Given the description of an element on the screen output the (x, y) to click on. 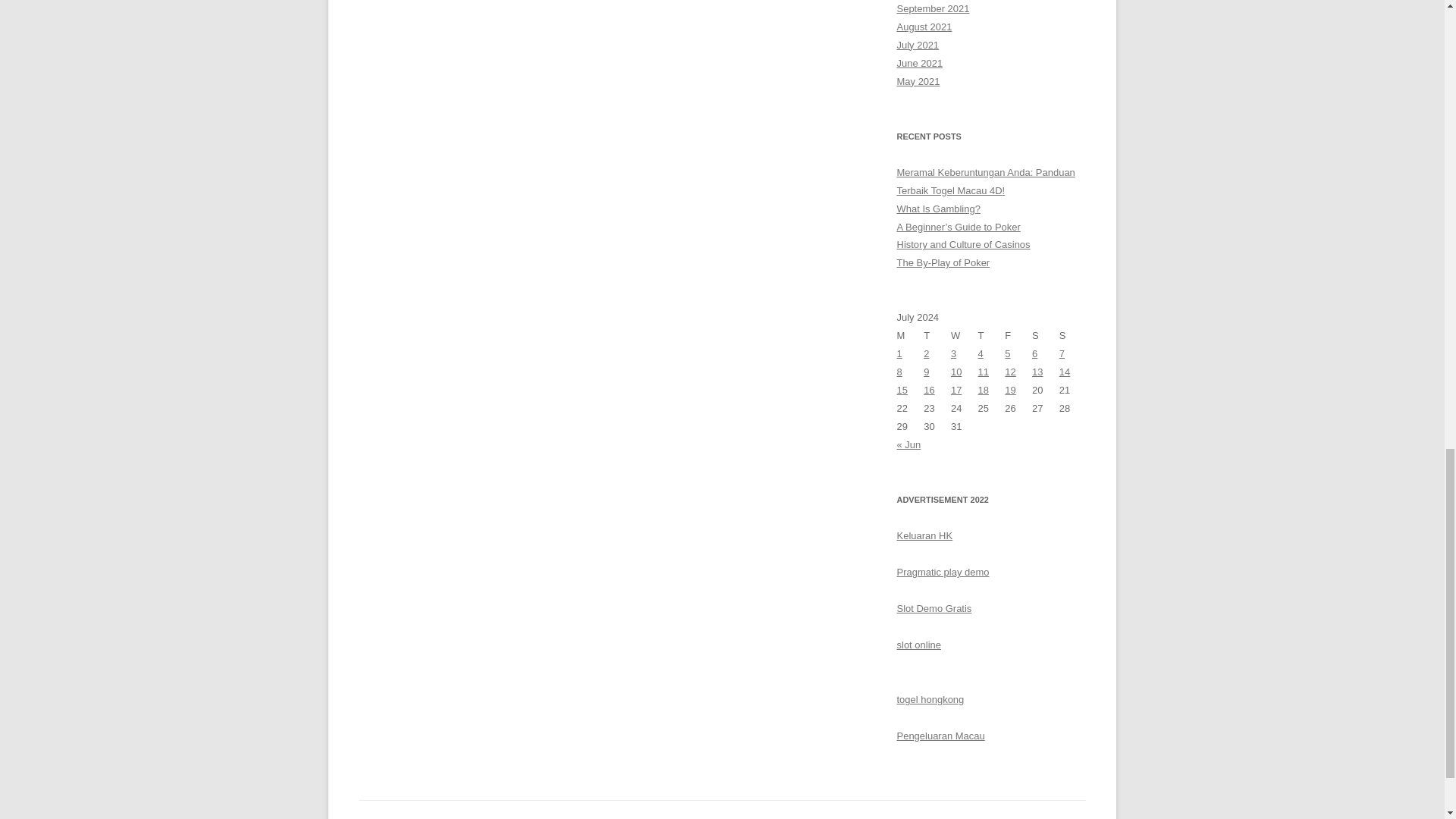
Tuesday (936, 335)
Monday (909, 335)
Wednesday (964, 335)
Saturday (1045, 335)
Friday (1018, 335)
Thursday (992, 335)
Sunday (1072, 335)
